Given the description of an element on the screen output the (x, y) to click on. 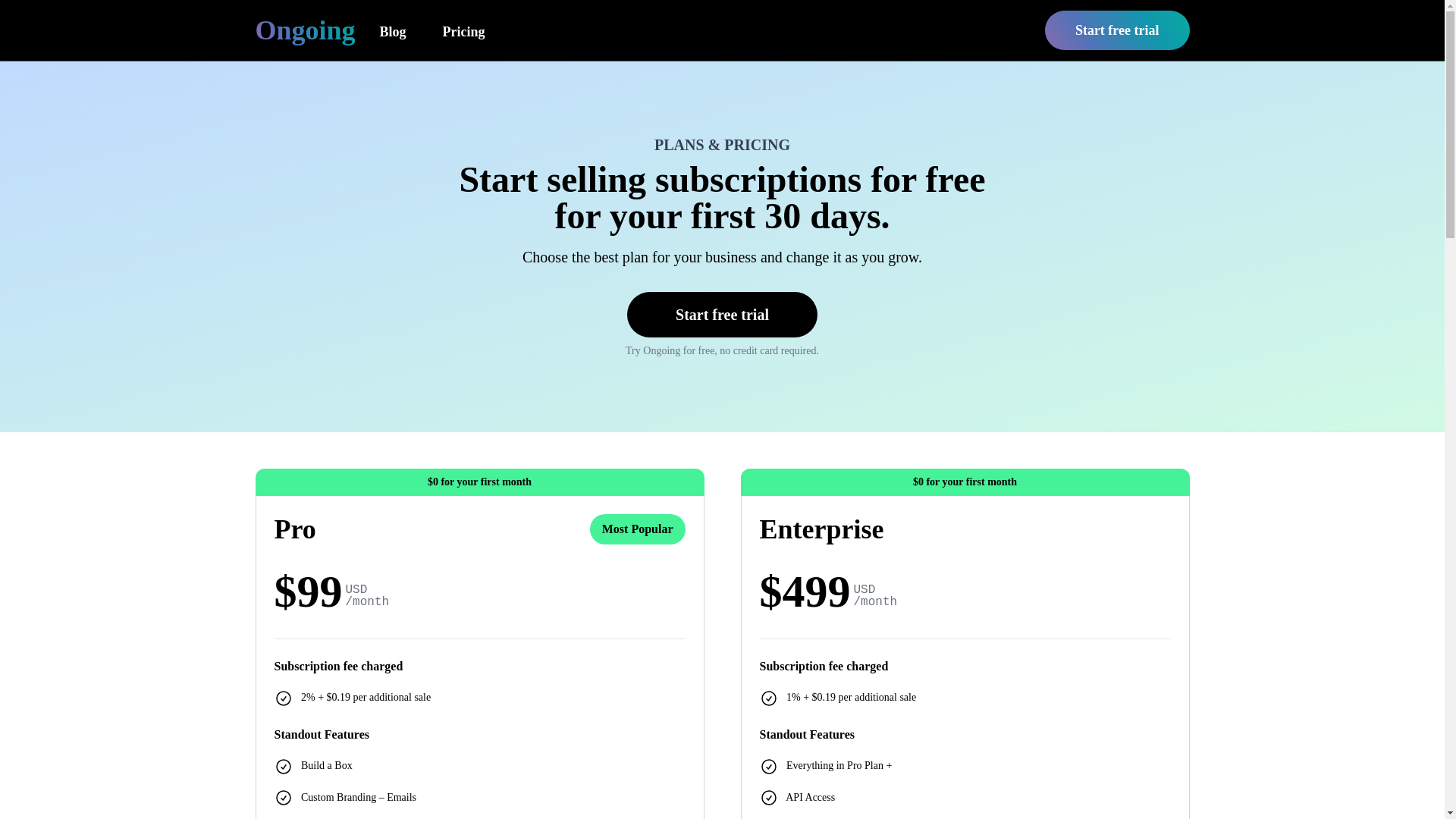
Ongoing (304, 30)
Pricing (463, 30)
Start free trial (1117, 29)
Start free trial (721, 314)
